Given the description of an element on the screen output the (x, y) to click on. 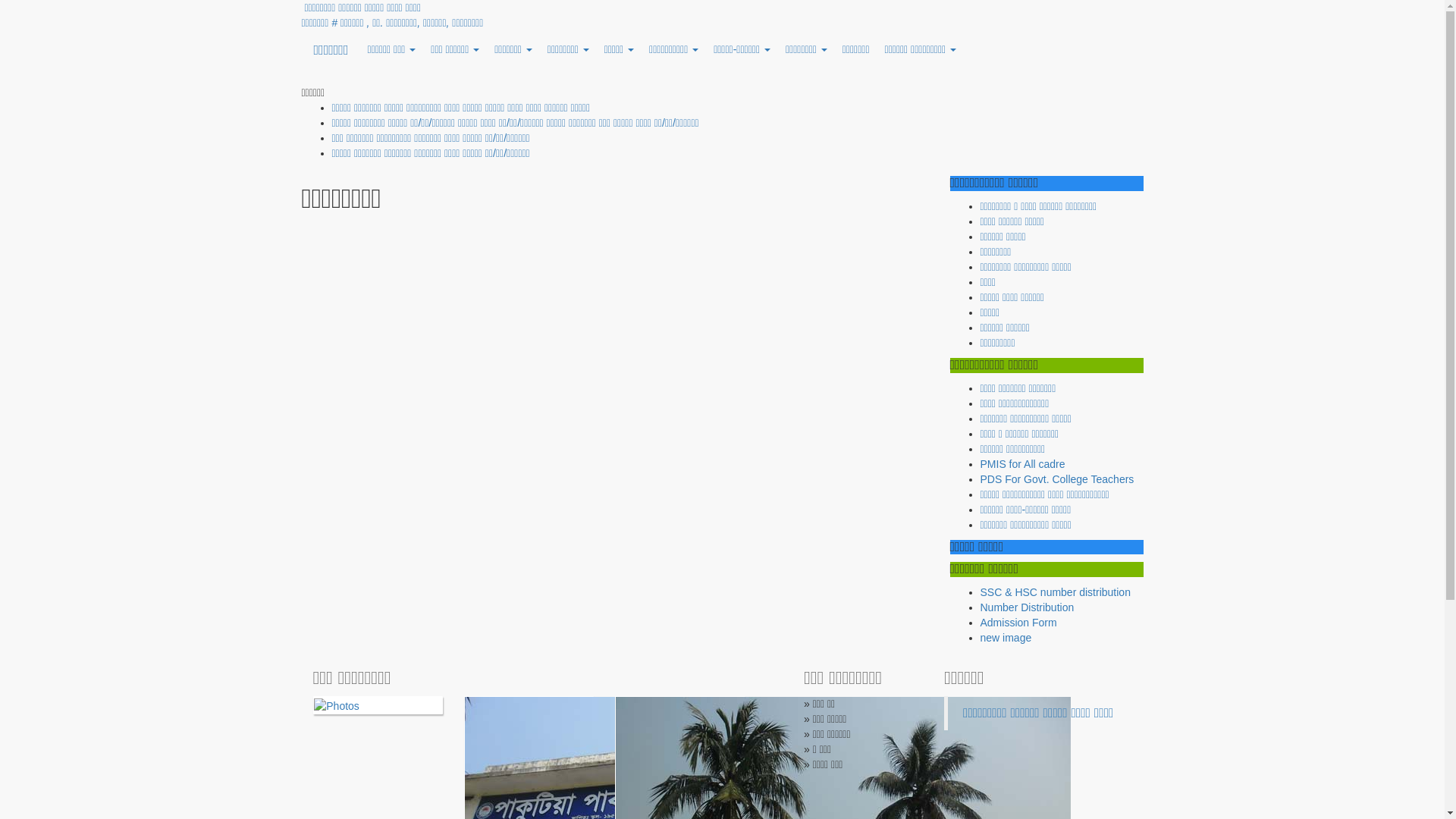
Admission Form Element type: text (1017, 622)
new image Element type: text (1005, 637)
PMIS for All cadre Element type: text (1021, 464)
SSC & HSC number distribution Element type: text (1054, 592)
PDS For Govt. College Teachers Element type: text (1056, 479)
Number Distribution Element type: text (1026, 607)
